Given the description of an element on the screen output the (x, y) to click on. 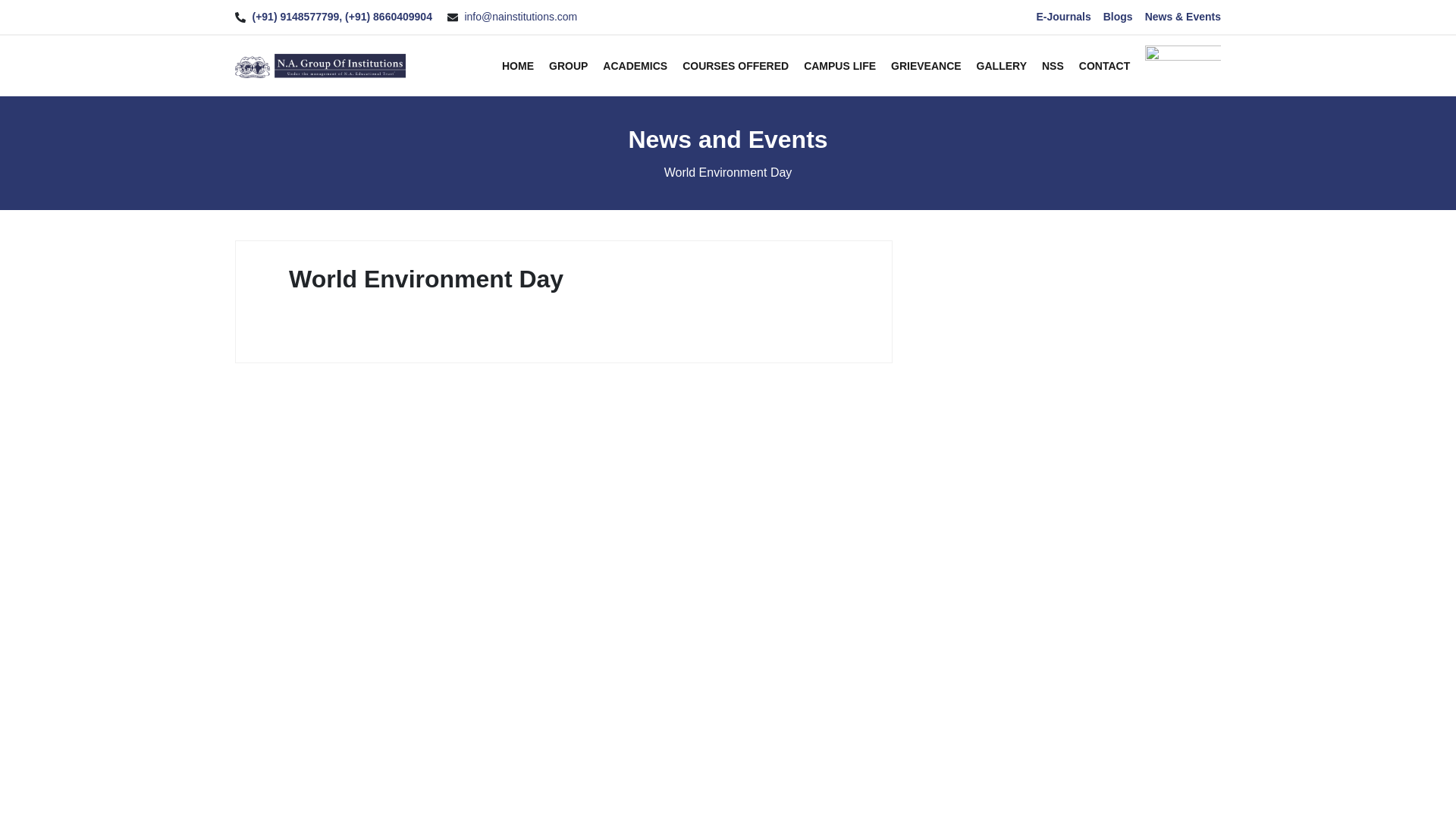
E-Journals (1062, 17)
ACADEMICS (634, 65)
GROUP (568, 65)
COURSES OFFERED (735, 65)
Blogs (1117, 17)
CAMPUS LIFE (839, 65)
HOME (518, 65)
